Given the description of an element on the screen output the (x, y) to click on. 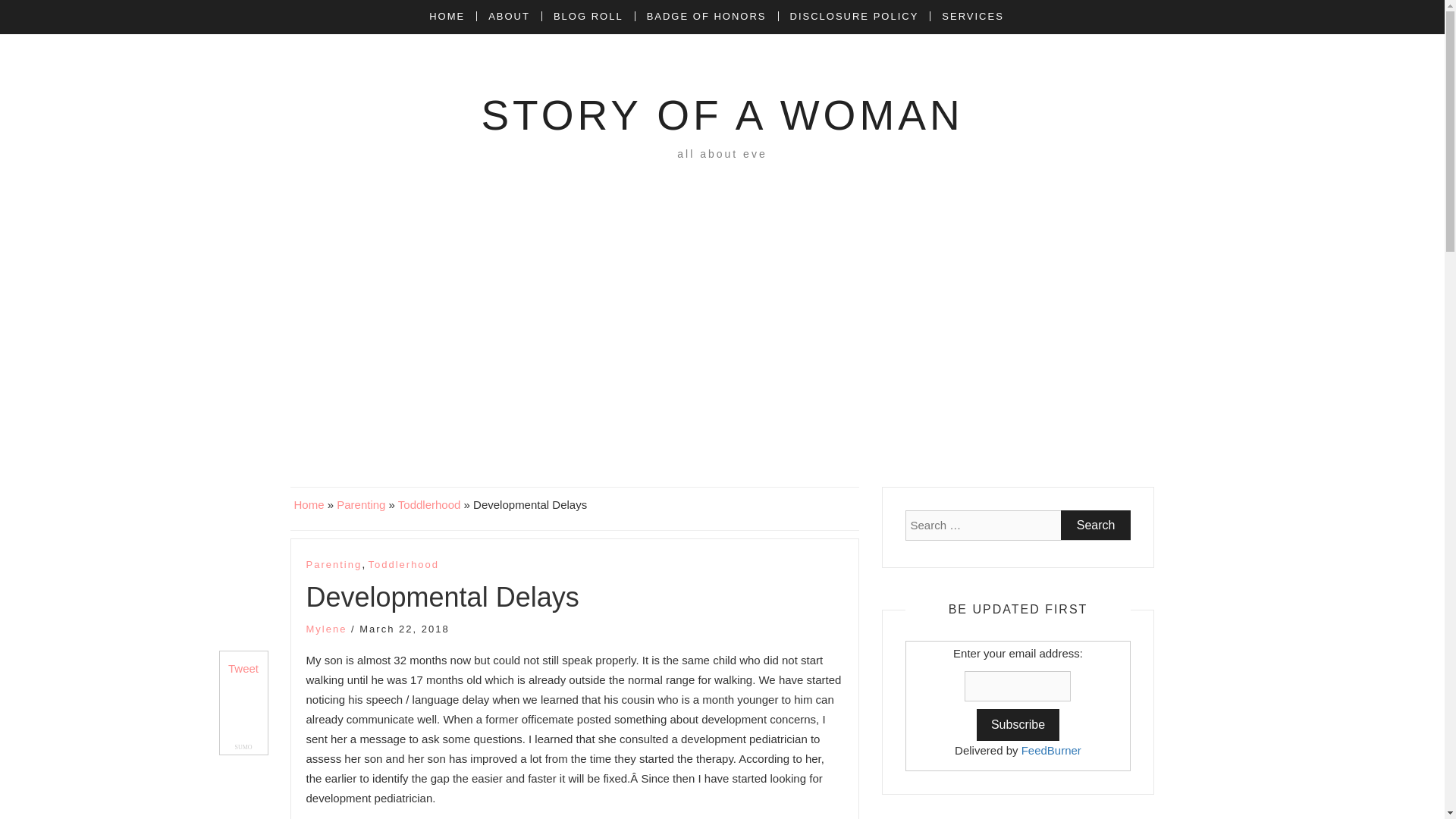
Toddlerhood (429, 504)
SERVICES (972, 16)
Home (309, 504)
BLOG ROLL (587, 16)
Search (1096, 524)
Subscribe (1017, 725)
Mylene (326, 628)
Toddlerhood (403, 564)
SUMO (242, 747)
ABOUT (508, 16)
Tweet (243, 667)
HOME (452, 16)
DISCLOSURE POLICY (853, 16)
Search (1096, 524)
Search (1096, 524)
